Given the description of an element on the screen output the (x, y) to click on. 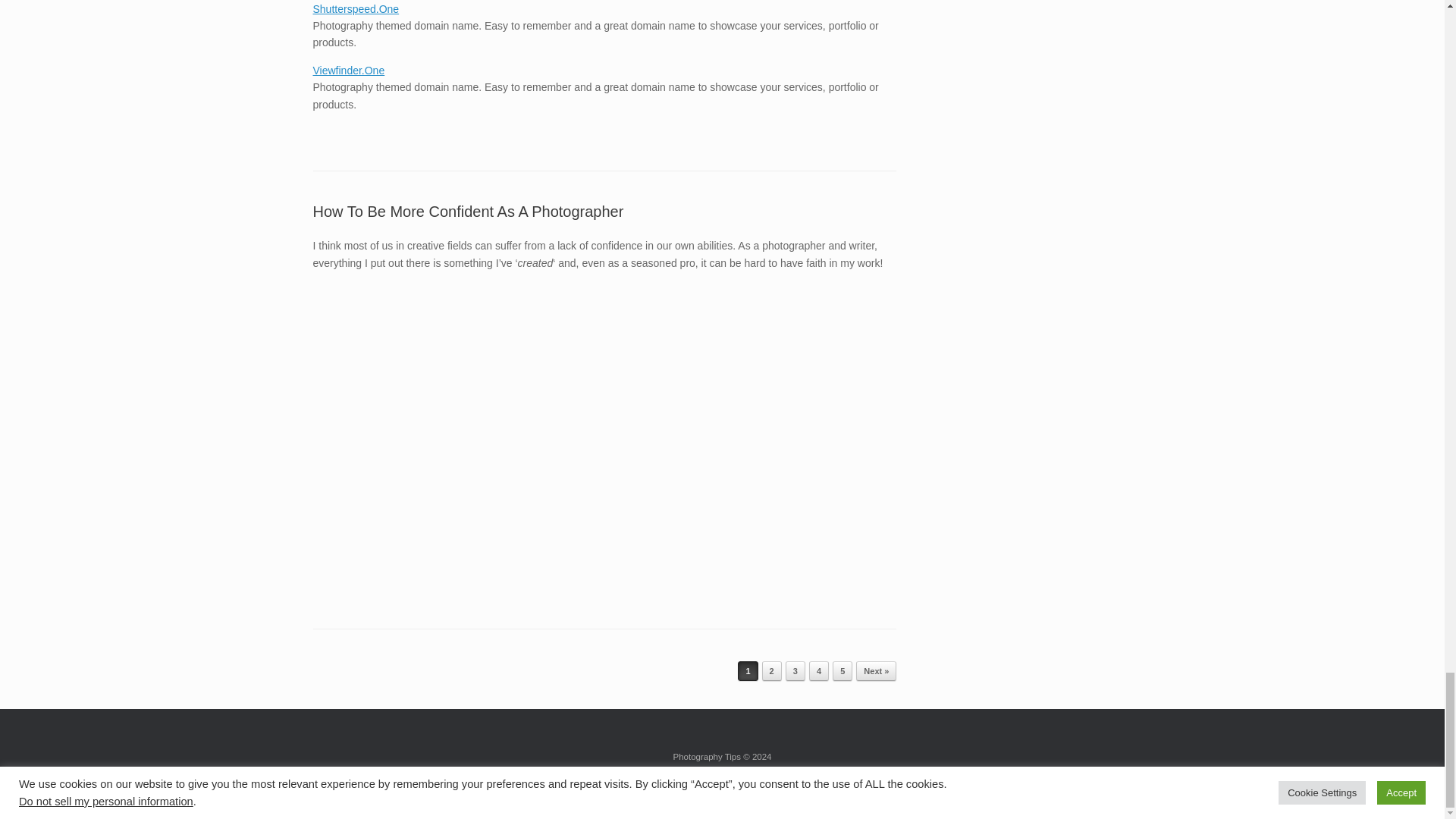
How To Be More Confident As A Photographer (468, 211)
4 (818, 670)
Viewfinder.One (348, 70)
Permalink to How To Be More Confident As A Photographer (468, 211)
3 (795, 670)
Shutterspeed.One (355, 9)
2 (771, 670)
5 (841, 670)
